Given the description of an element on the screen output the (x, y) to click on. 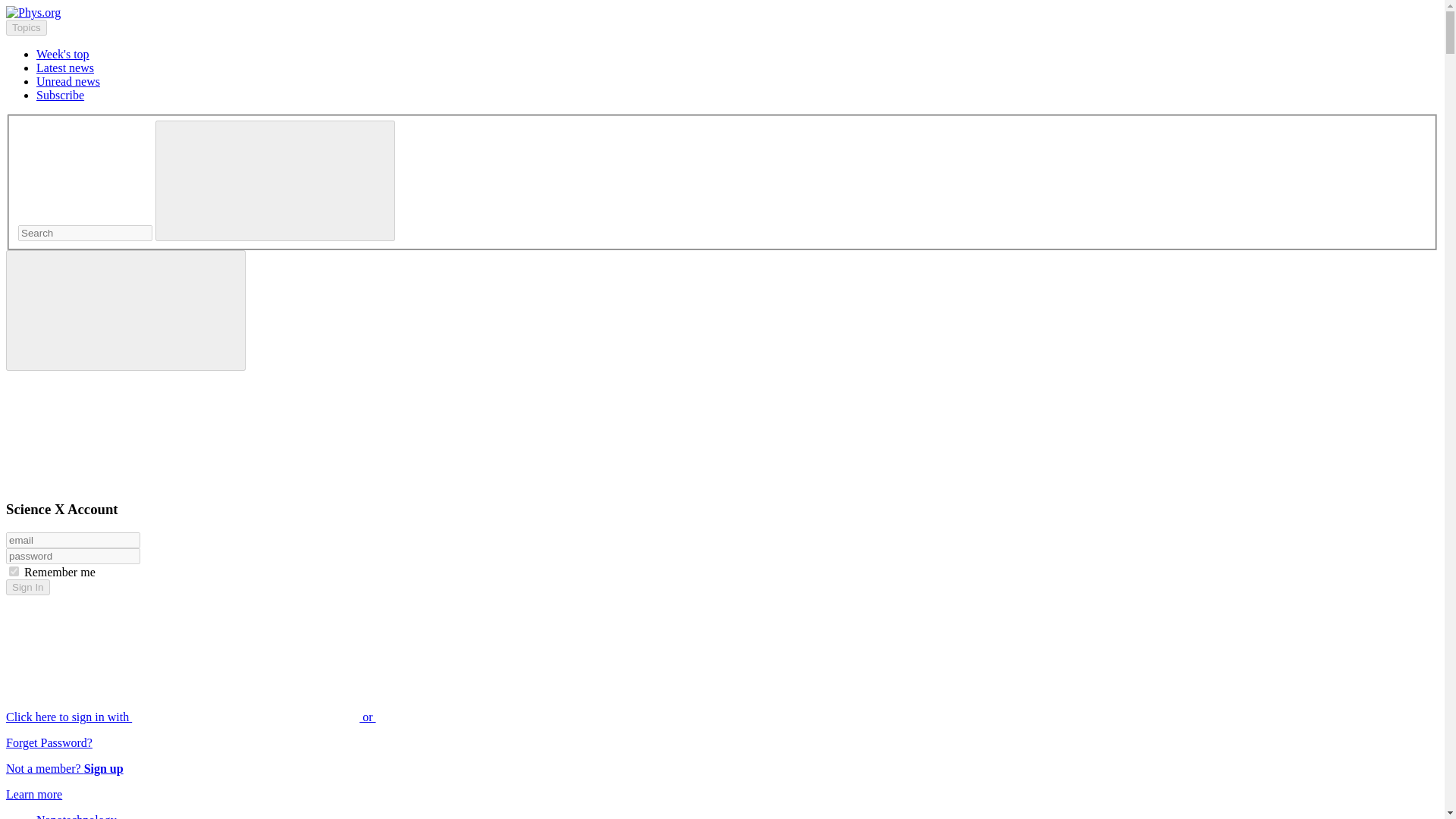
Click here to sign in with or (304, 716)
Nanotechnology (76, 816)
Learn more (33, 793)
Unread news (68, 81)
Not a member? Sign up (64, 768)
Week's top (62, 53)
Sign In (27, 587)
Subscribe (60, 94)
Latest news (65, 67)
Forget Password? (49, 742)
